Given the description of an element on the screen output the (x, y) to click on. 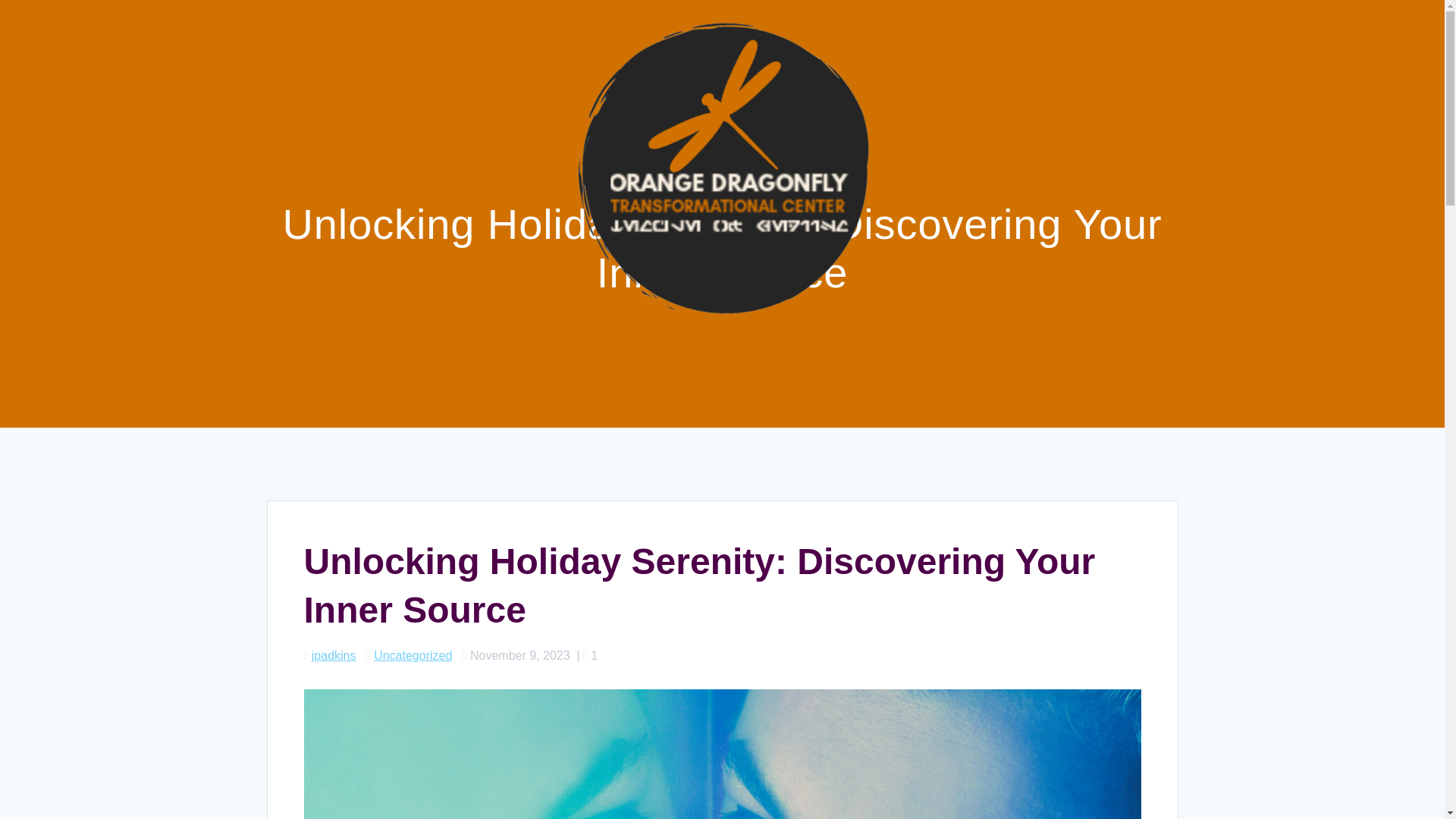
jpadkins (333, 655)
Posts by jpadkins (333, 655)
Uncategorized (412, 655)
